Given the description of an element on the screen output the (x, y) to click on. 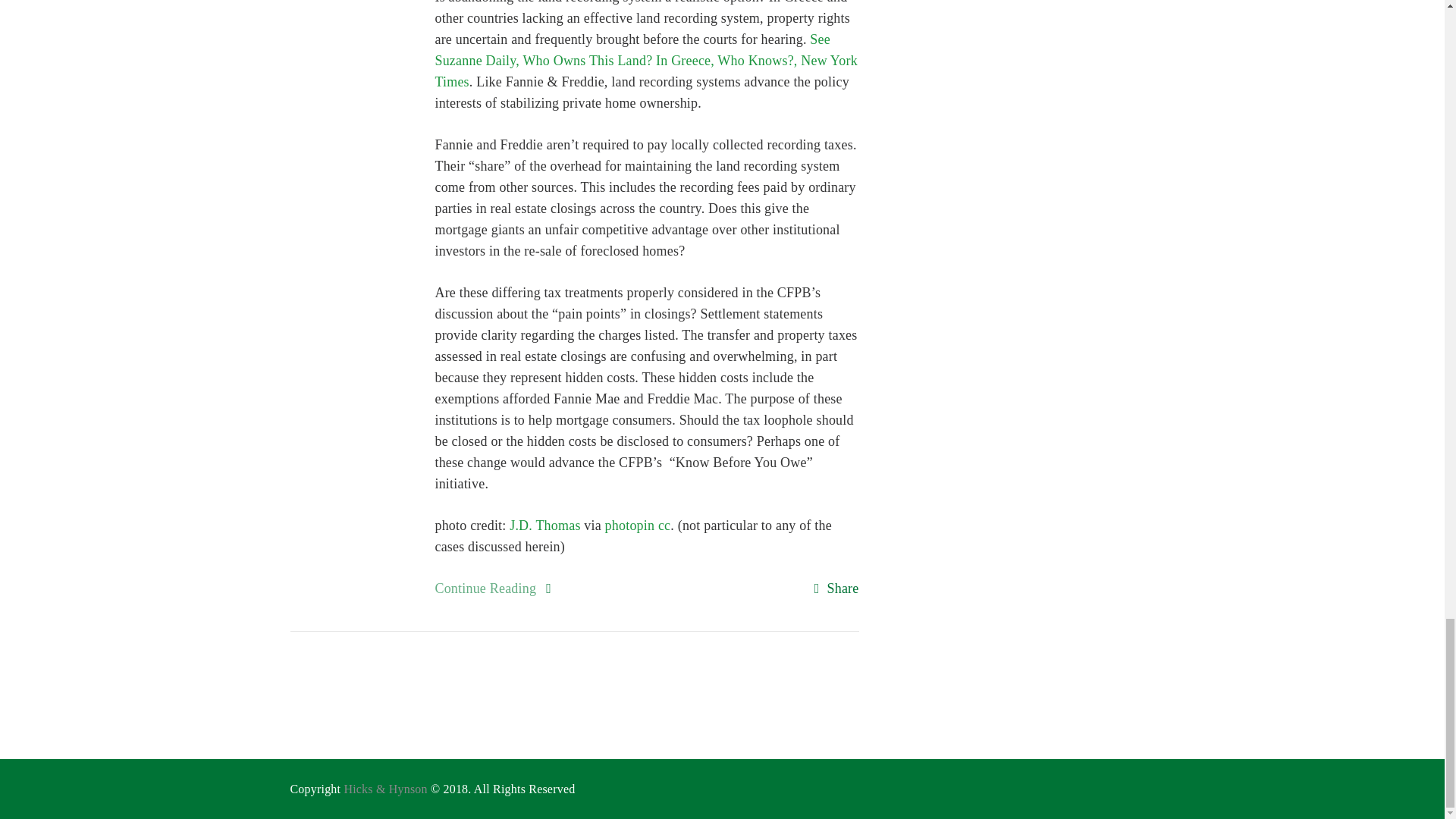
J.D. Thomas (544, 525)
photopin (630, 525)
Continue Reading (484, 588)
cc (663, 525)
